Given the description of an element on the screen output the (x, y) to click on. 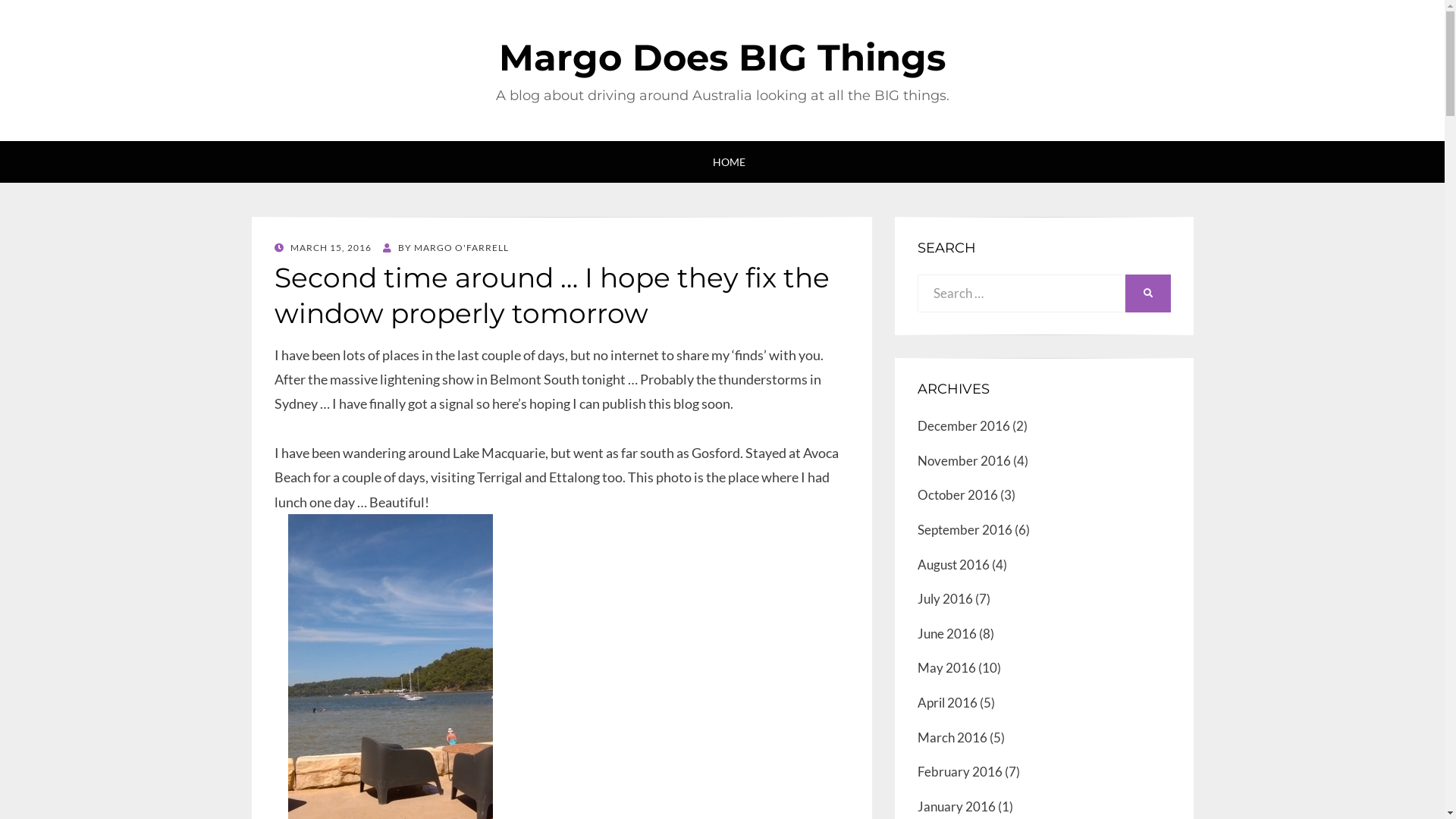
July 2016 Element type: text (944, 598)
April 2016 Element type: text (947, 702)
February 2016 Element type: text (959, 771)
March 2016 Element type: text (952, 737)
HOME Element type: text (721, 161)
November 2016 Element type: text (963, 460)
SEARCH Element type: text (1147, 293)
Search for: Element type: hover (1021, 293)
December 2016 Element type: text (963, 425)
October 2016 Element type: text (957, 494)
MARCH 15, 2016 Element type: text (322, 247)
MARGO O'FARRELL Element type: text (461, 247)
August 2016 Element type: text (953, 564)
May 2016 Element type: text (946, 667)
January 2016 Element type: text (956, 806)
June 2016 Element type: text (946, 633)
Margo Does BIG Things Element type: text (721, 57)
September 2016 Element type: text (964, 529)
